Given the description of an element on the screen output the (x, y) to click on. 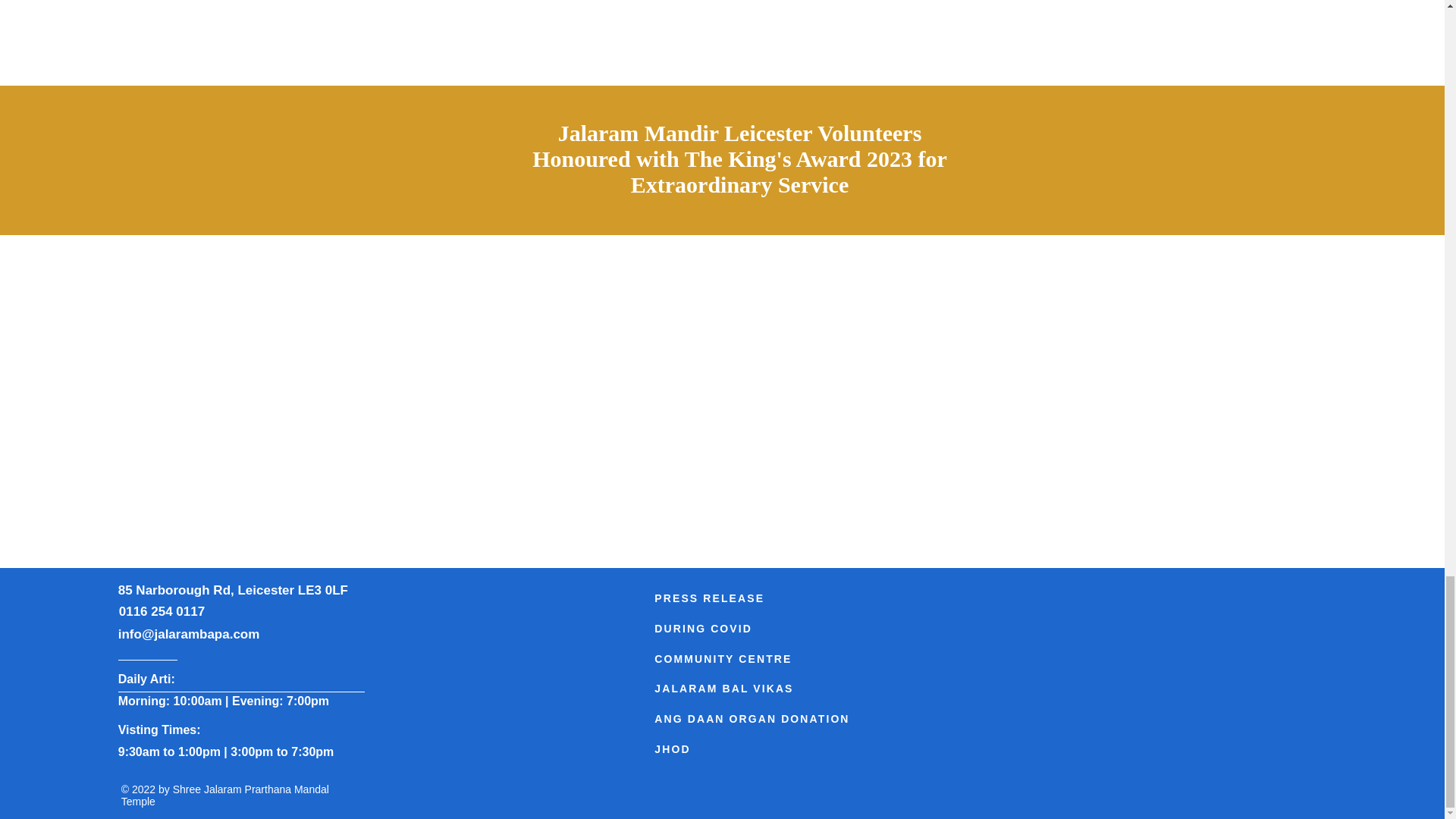
COMMUNITY CENTRE (731, 658)
DURING COVID (731, 628)
ANG DAAN ORGAN DONATION (772, 718)
JALARAM BAL VIKAS (731, 688)
PRESS RELEASE (731, 598)
0116 254 0117 (162, 611)
